Given the description of an element on the screen output the (x, y) to click on. 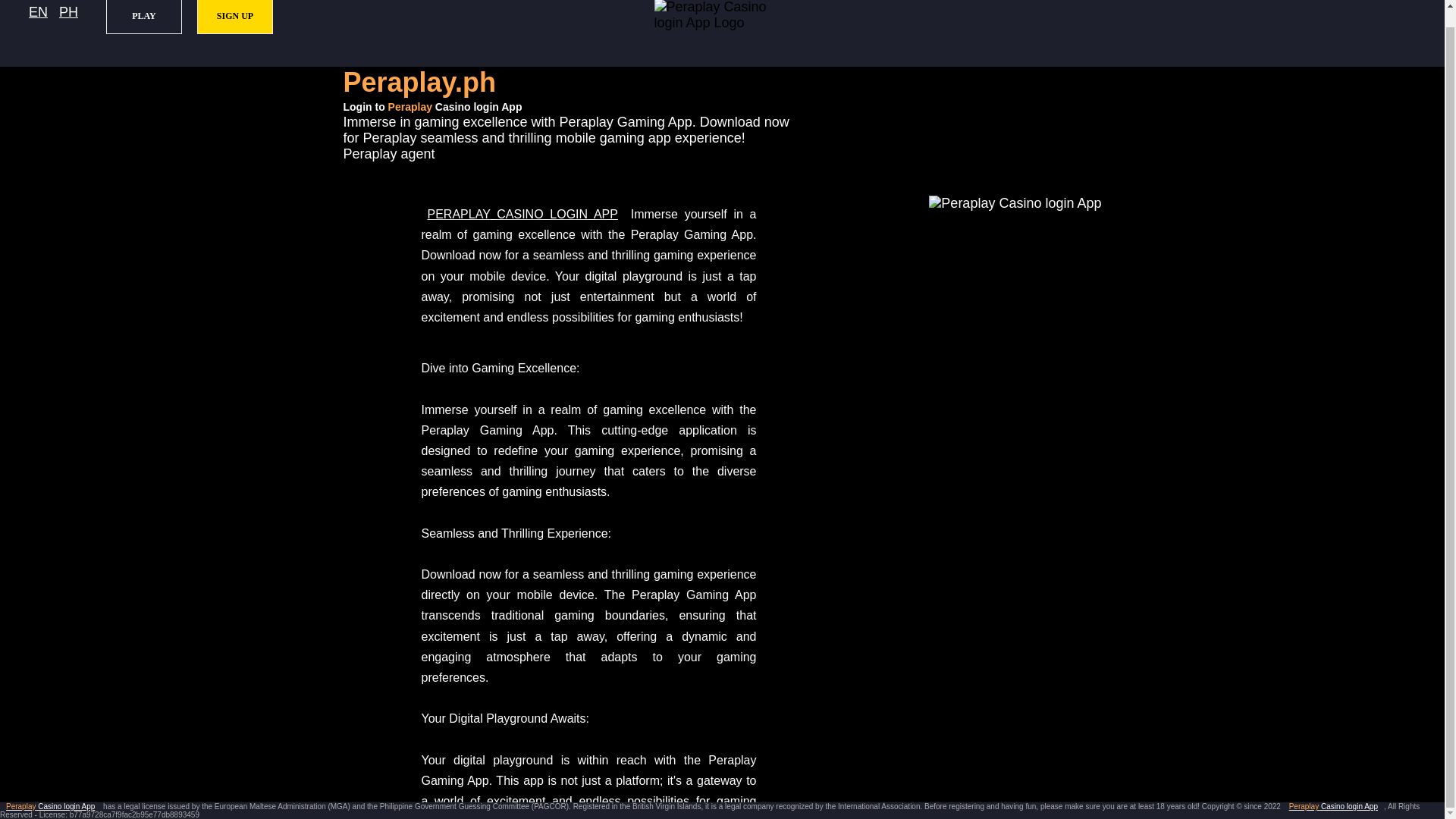
English (38, 12)
PERAPLAY CASINO LOGIN APP (522, 214)
Peraplay Casino login App (49, 806)
EN (38, 12)
Filipino (68, 12)
SIGN UP (234, 17)
Peraplay Casino login App (1332, 806)
PH (68, 12)
Peraplay Casino login App (522, 214)
PLAY (144, 17)
Peraplay Casino login App Logo (721, 36)
